Given the description of an element on the screen output the (x, y) to click on. 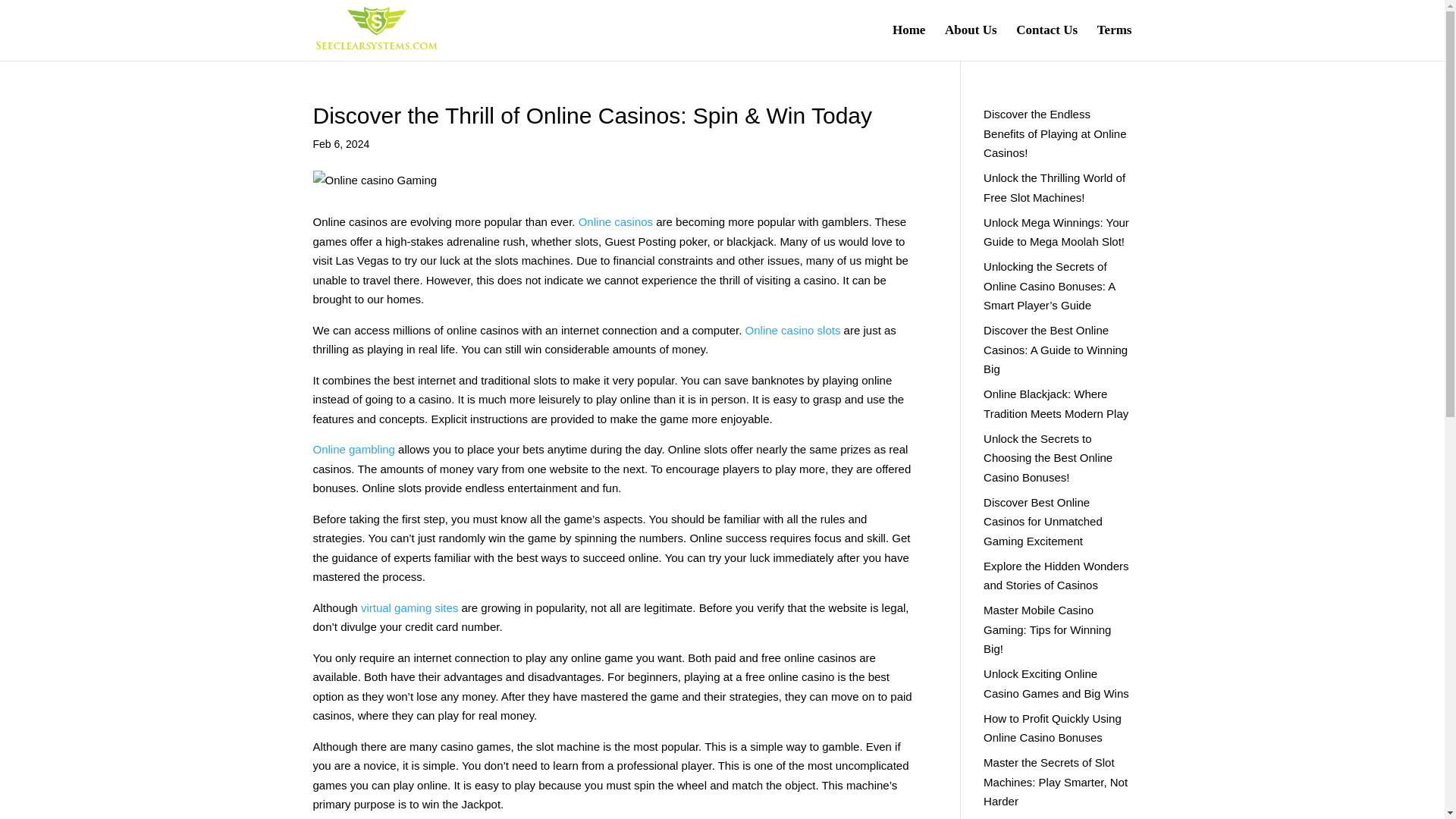
Unlock Exciting Online Casino Games and Big Wins (1056, 683)
Contact Us (1046, 42)
Discover Best Online Casinos for Unmatched Gaming Excitement (1043, 521)
Online Blackjack: Where Tradition Meets Modern Play (1056, 403)
Unlock the Thrilling World of Free Slot Machines! (1054, 187)
Online gambling (353, 449)
Home (908, 42)
Discover the Endless Benefits of Playing at Online Casinos! (1054, 132)
